Given the description of an element on the screen output the (x, y) to click on. 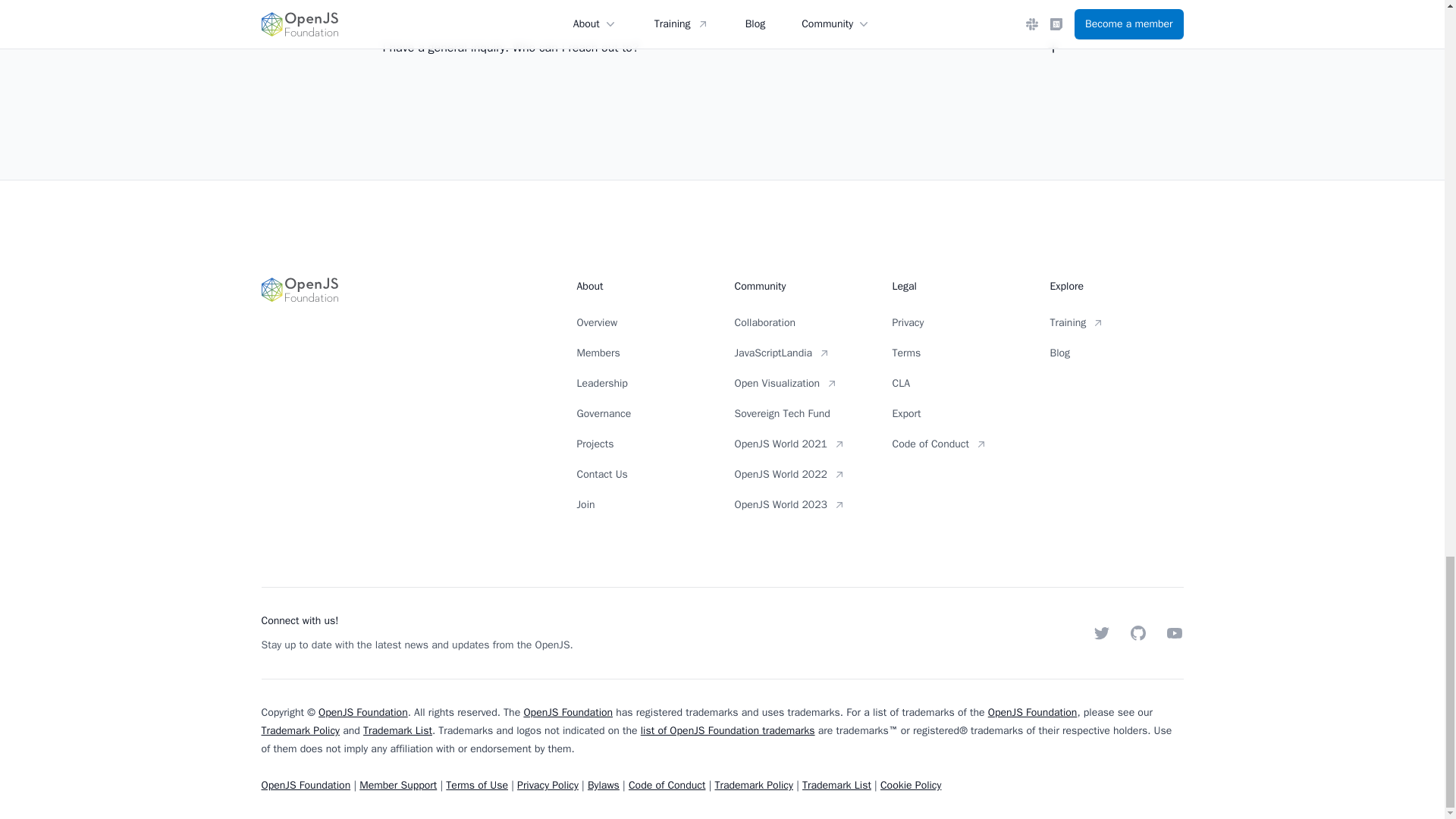
Sovereign Tech Fund (800, 413)
JavaScriptLandia (800, 352)
Members (643, 352)
Projects (643, 443)
OpenJS World 2021 (800, 443)
Governance (643, 413)
OpenJS Foundation (406, 395)
Contact Us (643, 475)
Leadership (643, 383)
Open Visualization (800, 383)
